Given the description of an element on the screen output the (x, y) to click on. 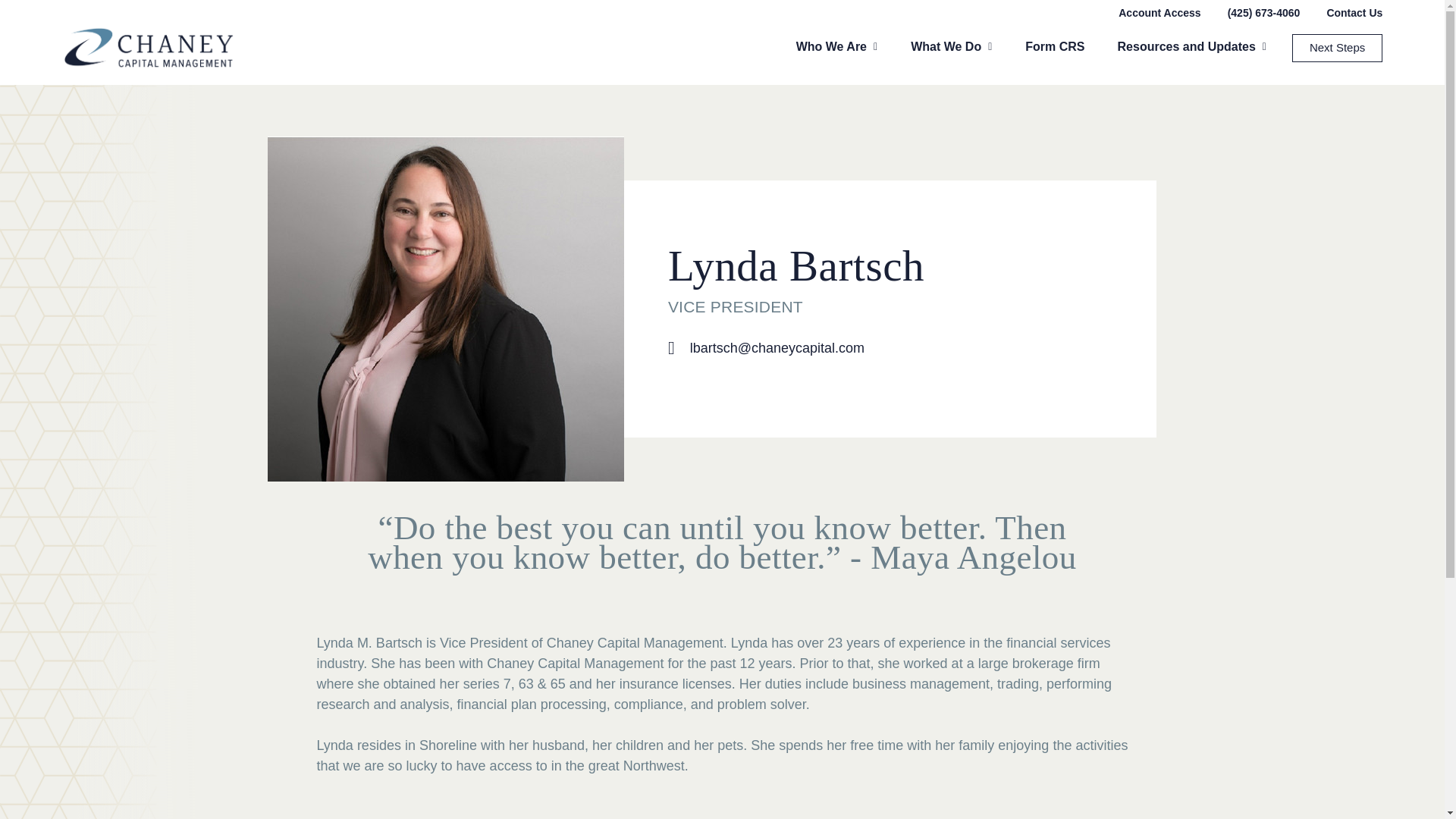
What We Do (945, 46)
Account Access (1158, 12)
Who We Are (831, 46)
Form CRS (1054, 46)
Resources and Updates (1187, 46)
Contact Us (1353, 12)
Next Steps (1336, 47)
